Given the description of an element on the screen output the (x, y) to click on. 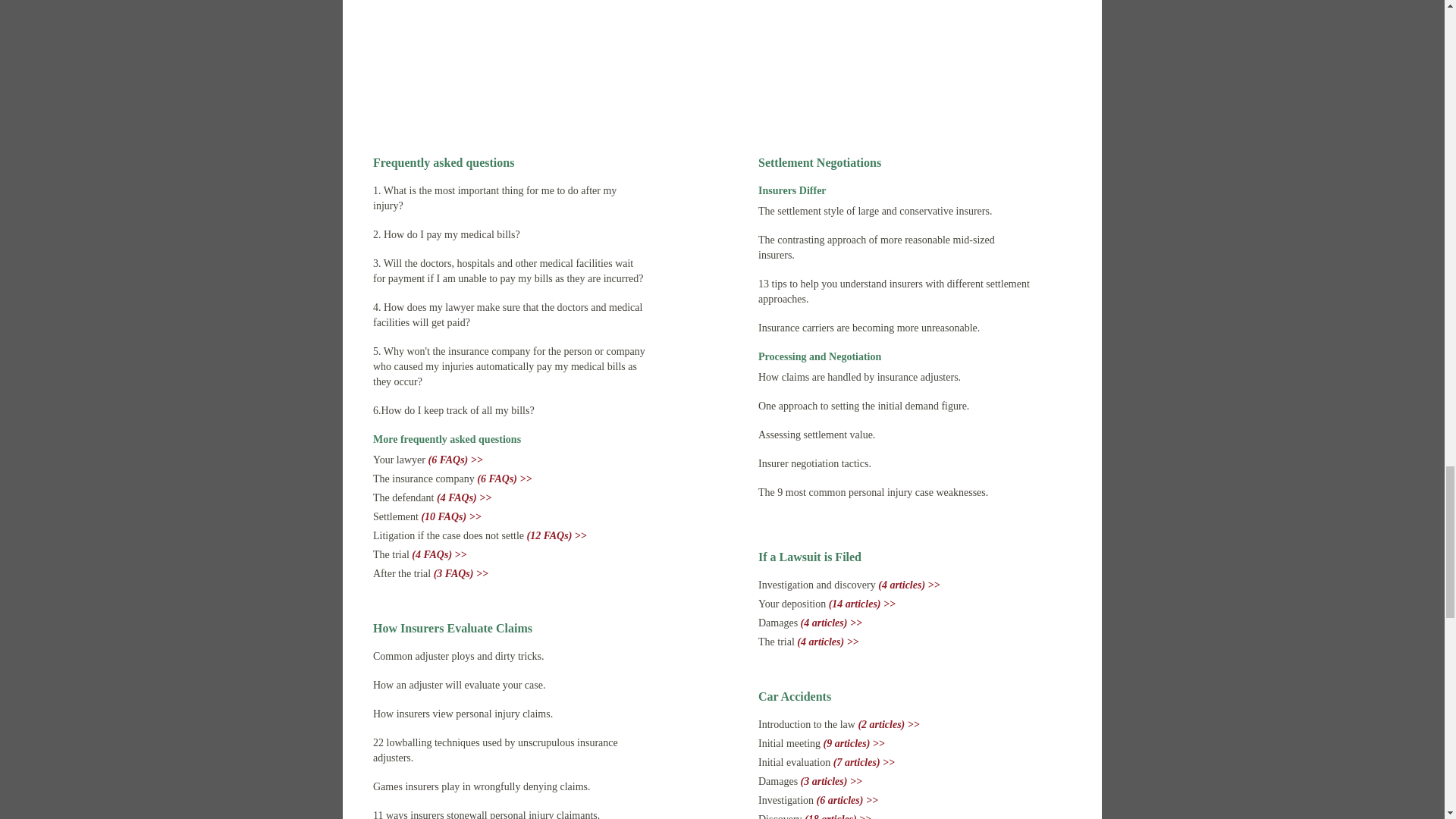
Games insurers play in wrongfully denying claims. (481, 786)
How insurers view personal injury claims. (462, 713)
How an adjuster will evaluate your case. (458, 685)
6.How do I keep track of all my bills? (453, 410)
11 ways insurers stonewall personal injury claimants. (485, 814)
Common adjuster ploys and dirty tricks. (458, 655)
2. How do I pay my medical bills? (445, 234)
